Given the description of an element on the screen output the (x, y) to click on. 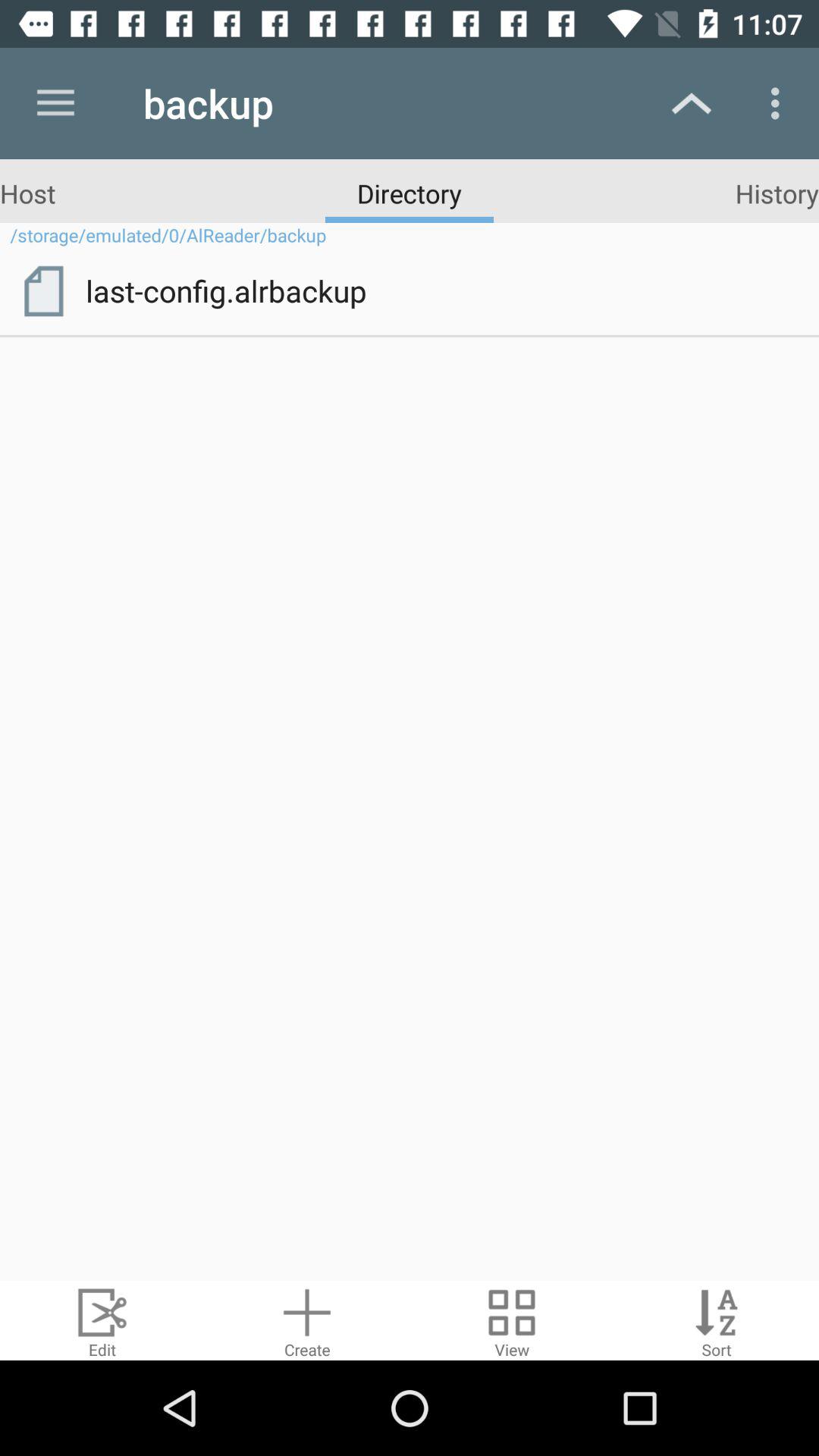
launch the history item (777, 193)
